Given the description of an element on the screen output the (x, y) to click on. 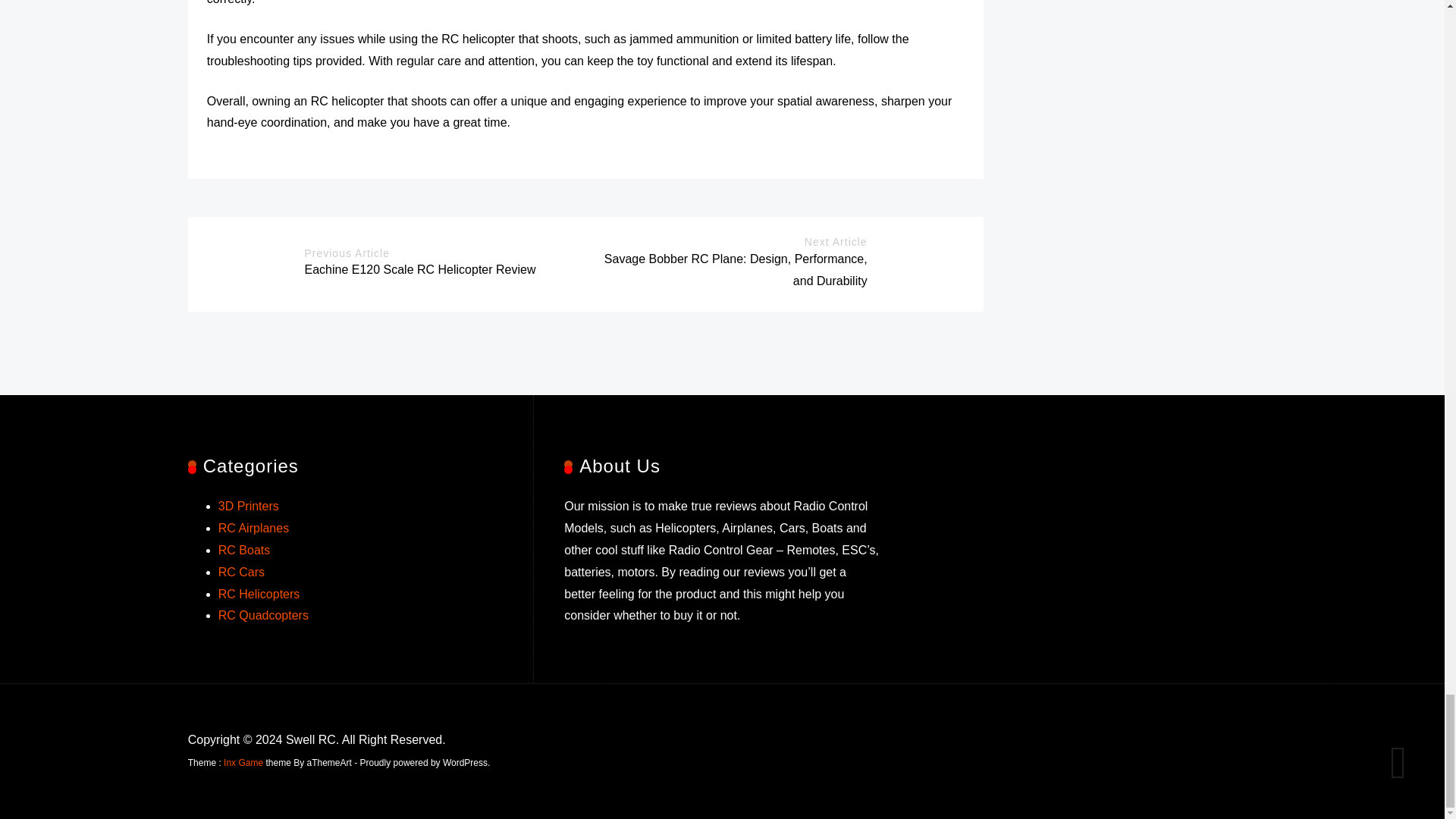
Eachine E120 Scale RC Helicopter Review (419, 269)
Savage Bobber RC Plane: Design, Performance, and Durability (735, 269)
